Given the description of an element on the screen output the (x, y) to click on. 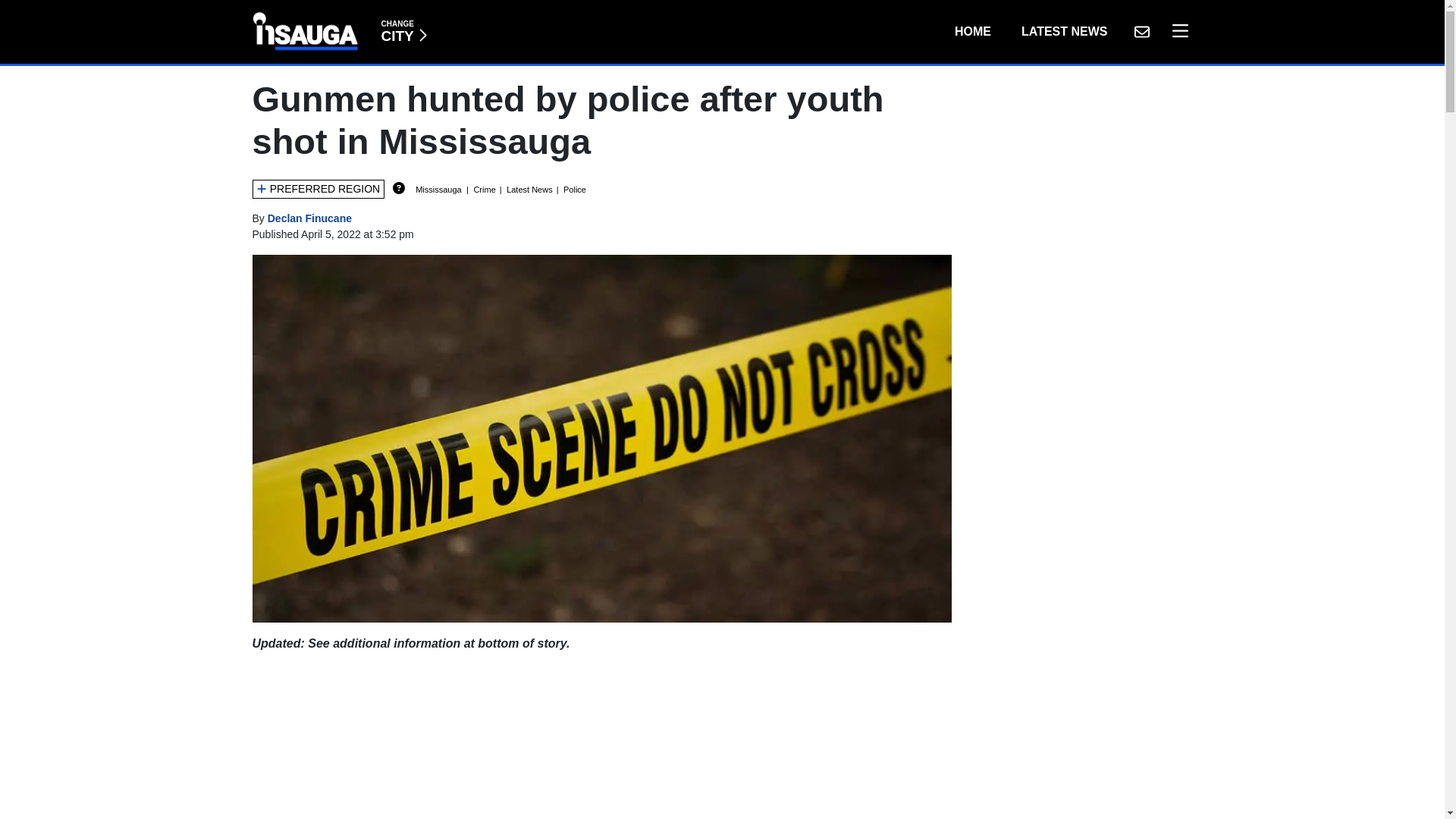
OPEN MENU (402, 31)
Posts by 950 (1176, 31)
SIGN UP FOR OUR NEWSLETTER (309, 218)
HOME (1141, 31)
LATEST NEWS (972, 31)
3rd party ad content (1064, 31)
